Given the description of an element on the screen output the (x, y) to click on. 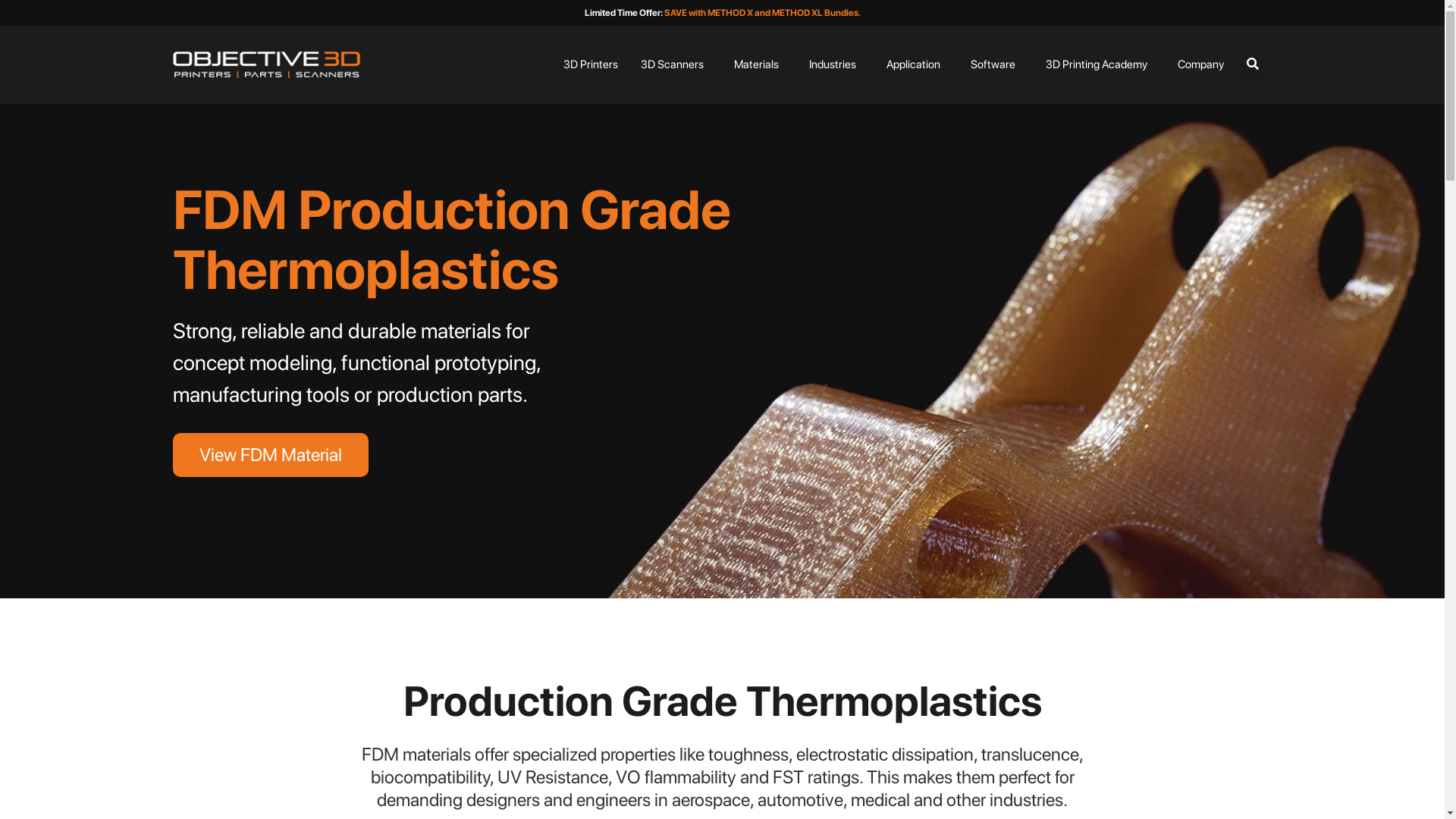
Company Element type: text (1200, 64)
3D Printing Academy Element type: text (1096, 64)
3D Printers Element type: text (590, 64)
Software Element type: text (992, 64)
Industries Element type: text (832, 64)
Application Element type: text (912, 64)
3D Scanners Element type: text (672, 64)
Materials Element type: text (756, 64)
View FDM Material Element type: text (270, 454)
